Given the description of an element on the screen output the (x, y) to click on. 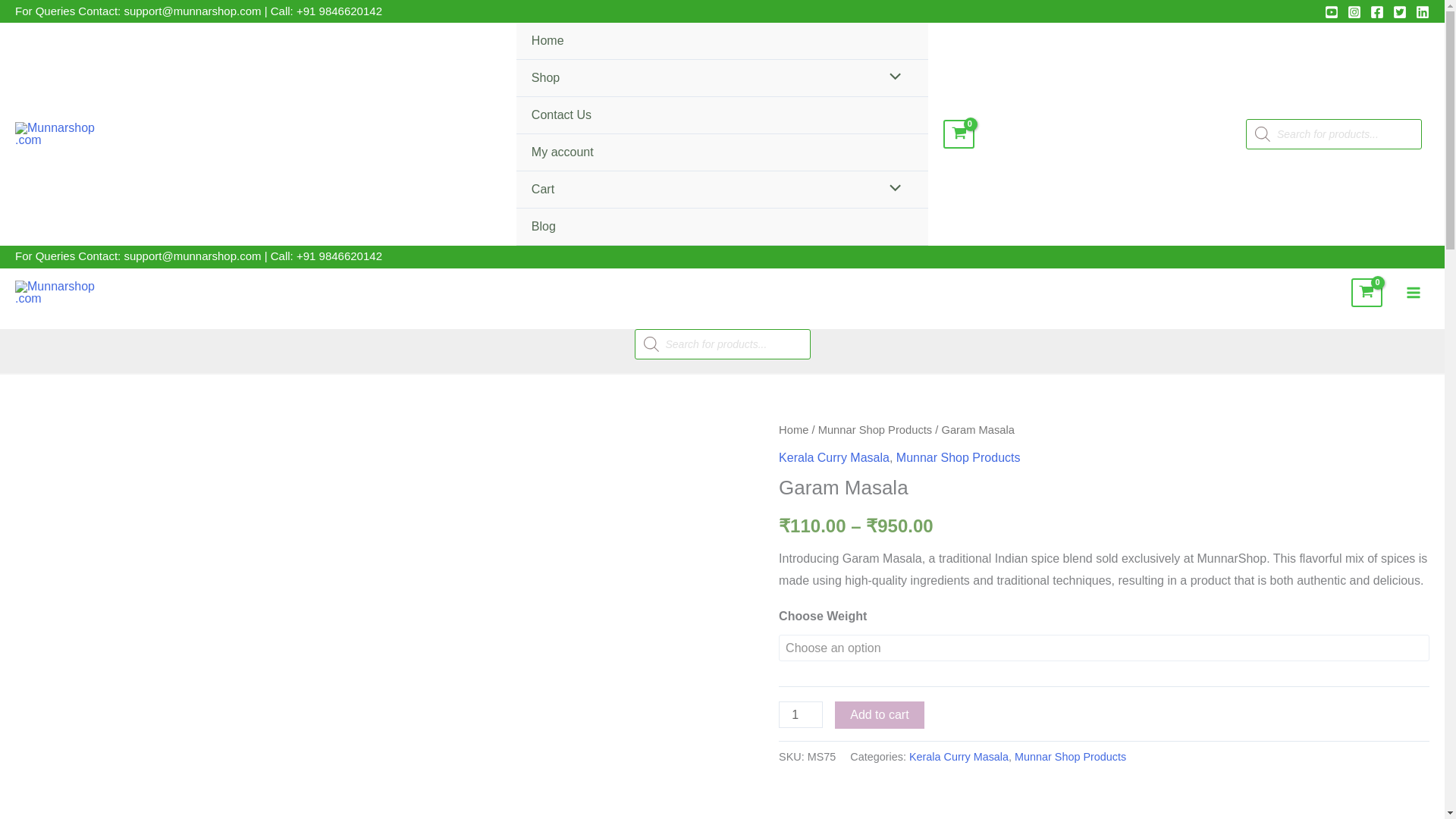
Menu Toggle (891, 77)
Shop (722, 78)
Main Menu (1413, 292)
Home (722, 40)
Menu Toggle (891, 189)
Blog (722, 226)
Cart (722, 189)
1 (800, 714)
My account (722, 152)
Contact Us (722, 115)
